Given the description of an element on the screen output the (x, y) to click on. 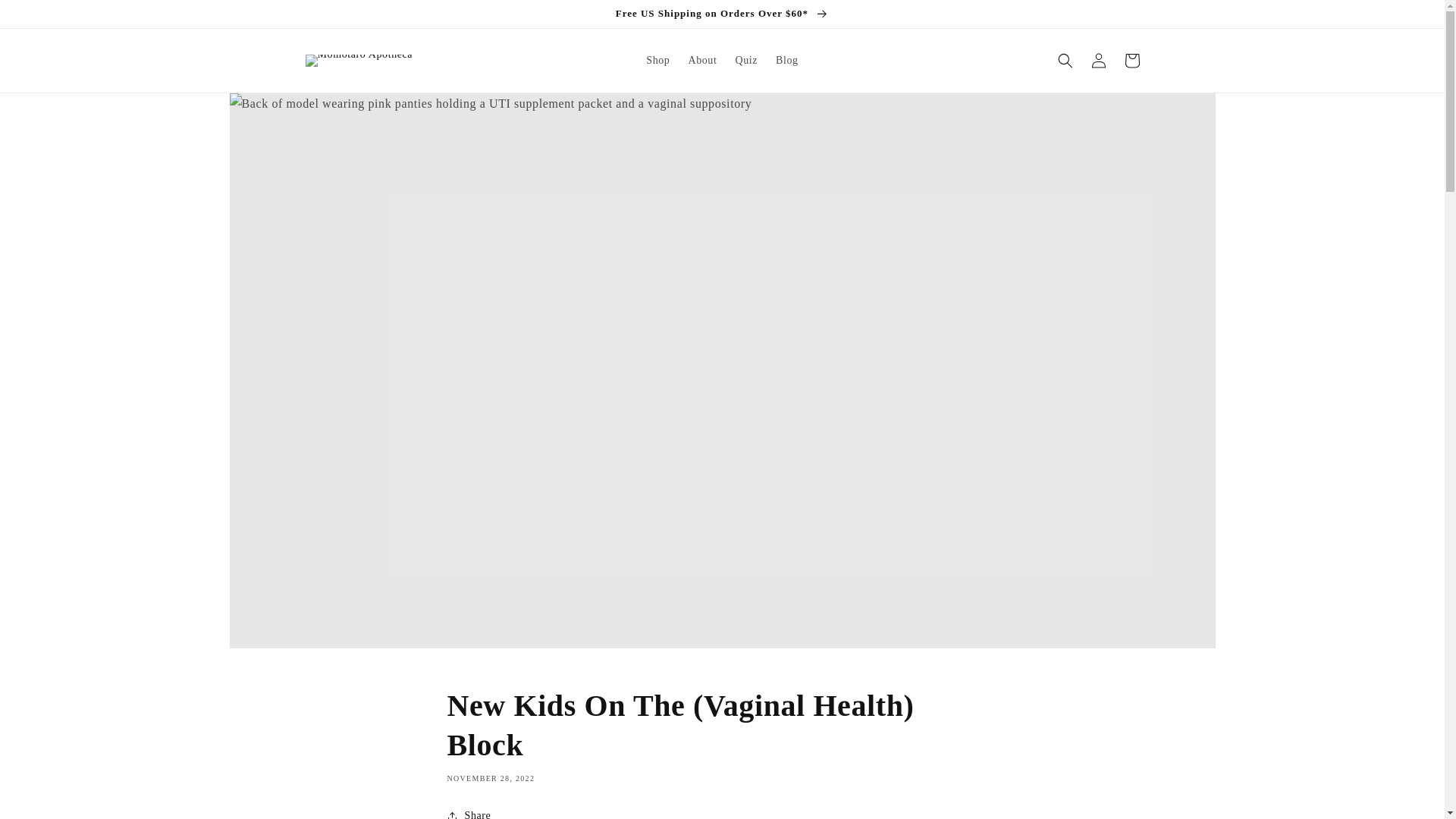
Skip to content (22, 9)
Log in (1098, 60)
About (701, 60)
Quiz (746, 60)
Cart (1131, 60)
Blog (787, 60)
Shop (657, 60)
